Given the description of an element on the screen output the (x, y) to click on. 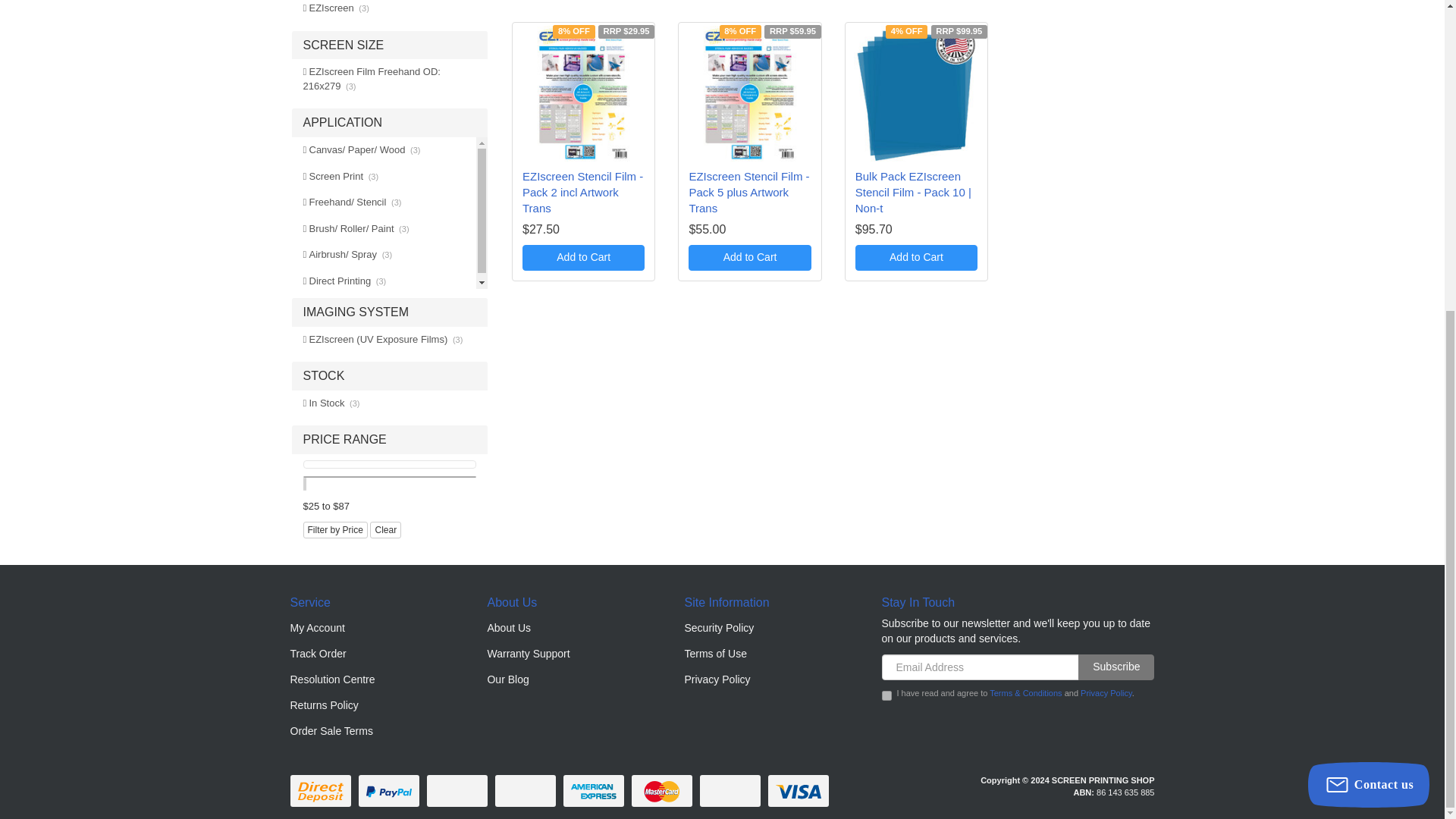
Filter by Price (335, 529)
Subscribe (1116, 667)
y (885, 696)
